Given the description of an element on the screen output the (x, y) to click on. 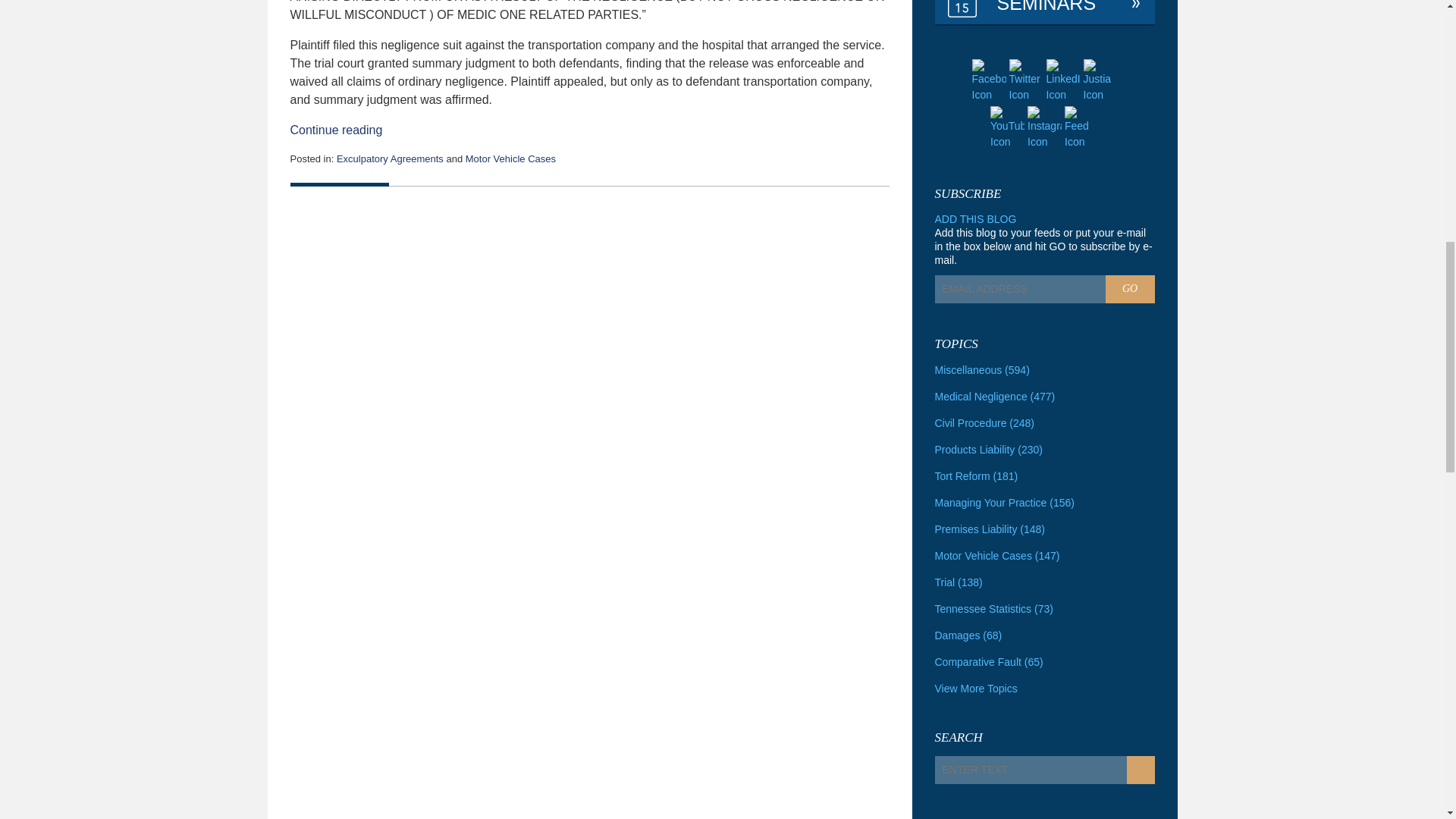
View all posts in Motor Vehicle Cases (510, 158)
Motor Vehicle Cases (510, 158)
SEMINARS (1044, 12)
Exculpatory Agreements (390, 158)
ADD THIS BLOG (975, 218)
Continue reading (335, 129)
GO (1129, 289)
View all posts in Exculpatory Agreements (390, 158)
